Given the description of an element on the screen output the (x, y) to click on. 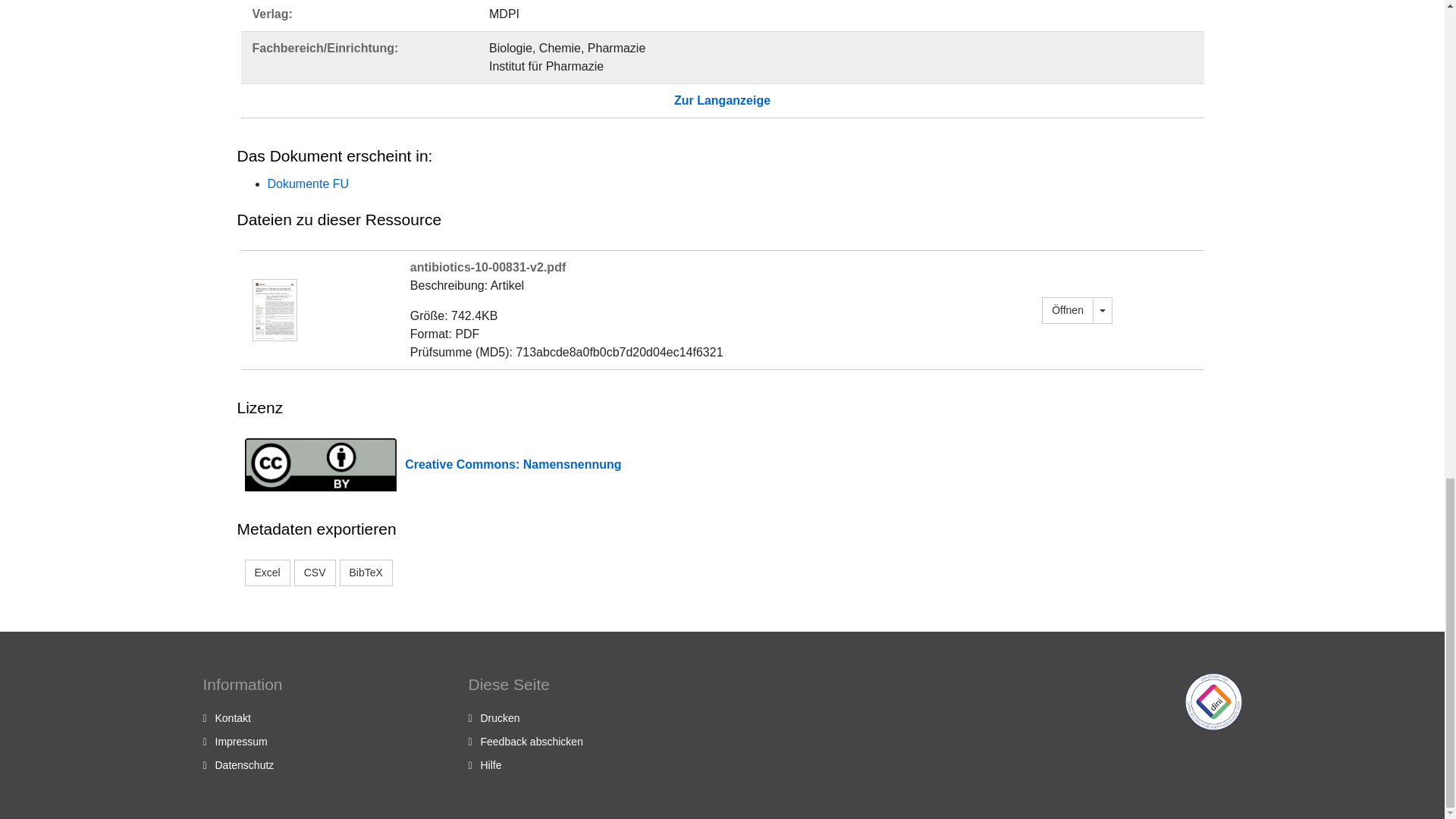
antibiotics-10-00831-v2.pdf (274, 308)
antibiotics-10-00831-v2.pdf (1067, 310)
